Given the description of an element on the screen output the (x, y) to click on. 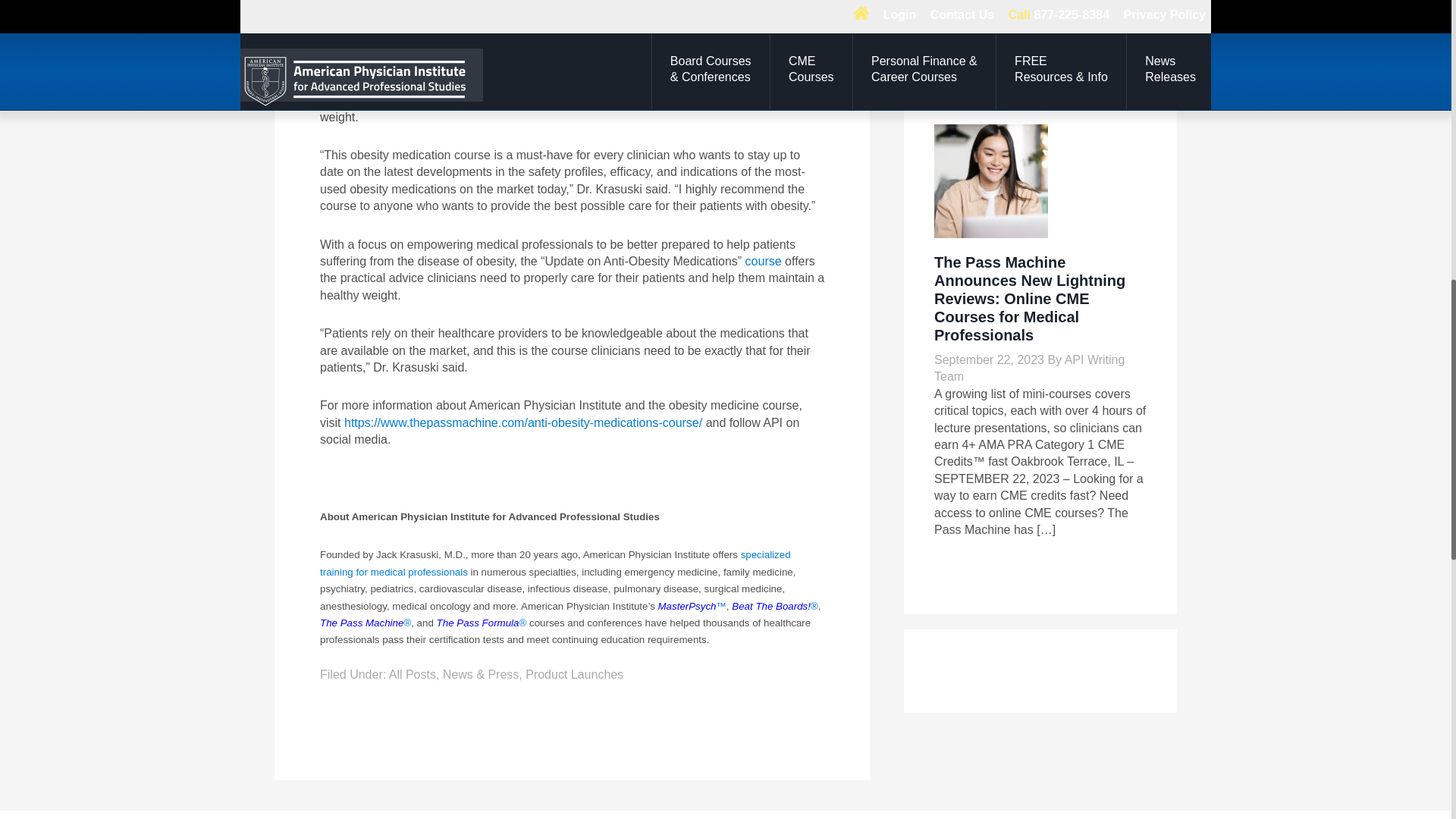
specialized training for medical professionals (555, 562)
course (763, 260)
